Given the description of an element on the screen output the (x, y) to click on. 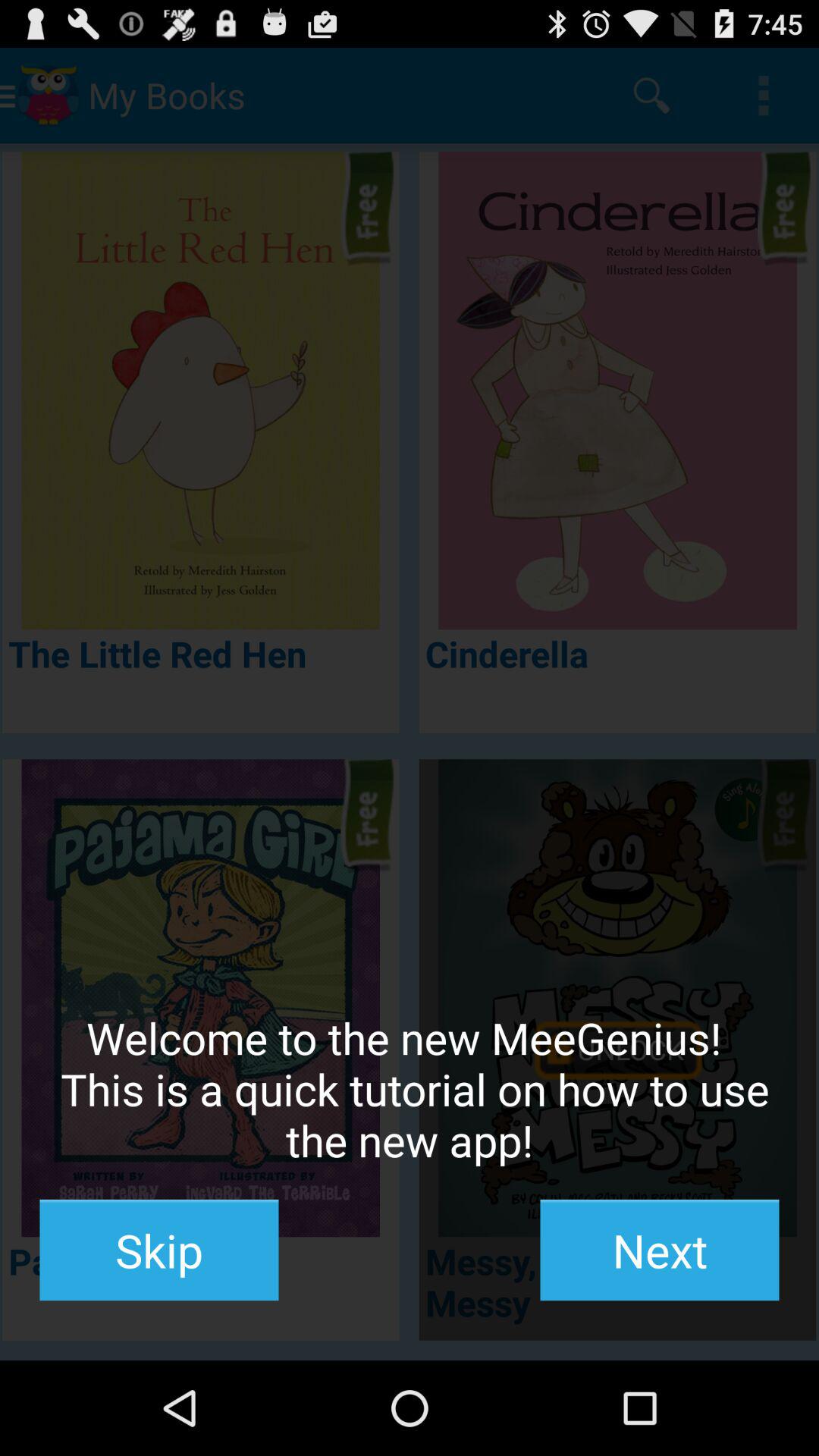
flip to the next (659, 1249)
